Given the description of an element on the screen output the (x, y) to click on. 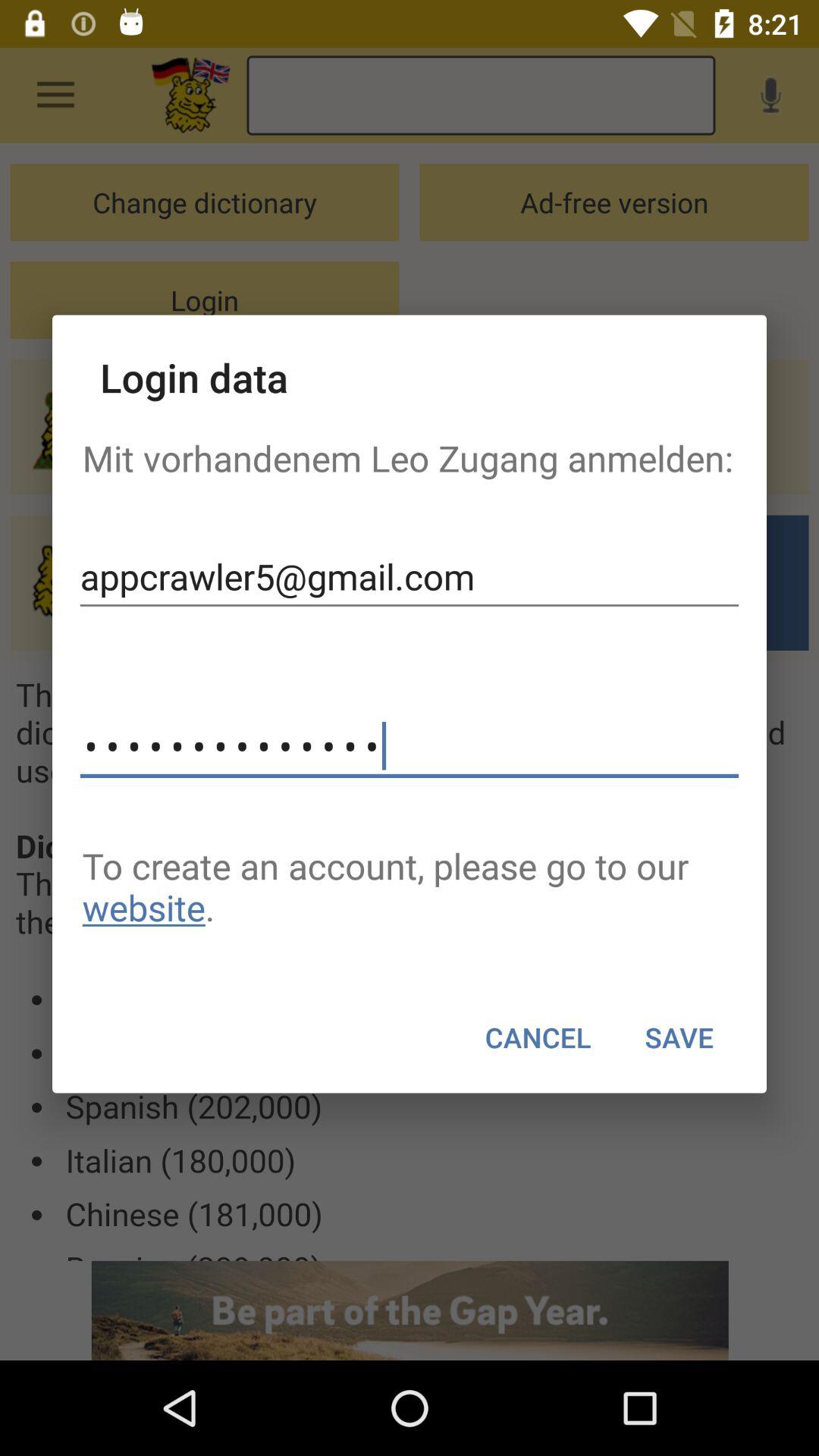
choose item above cancel icon (409, 886)
